Given the description of an element on the screen output the (x, y) to click on. 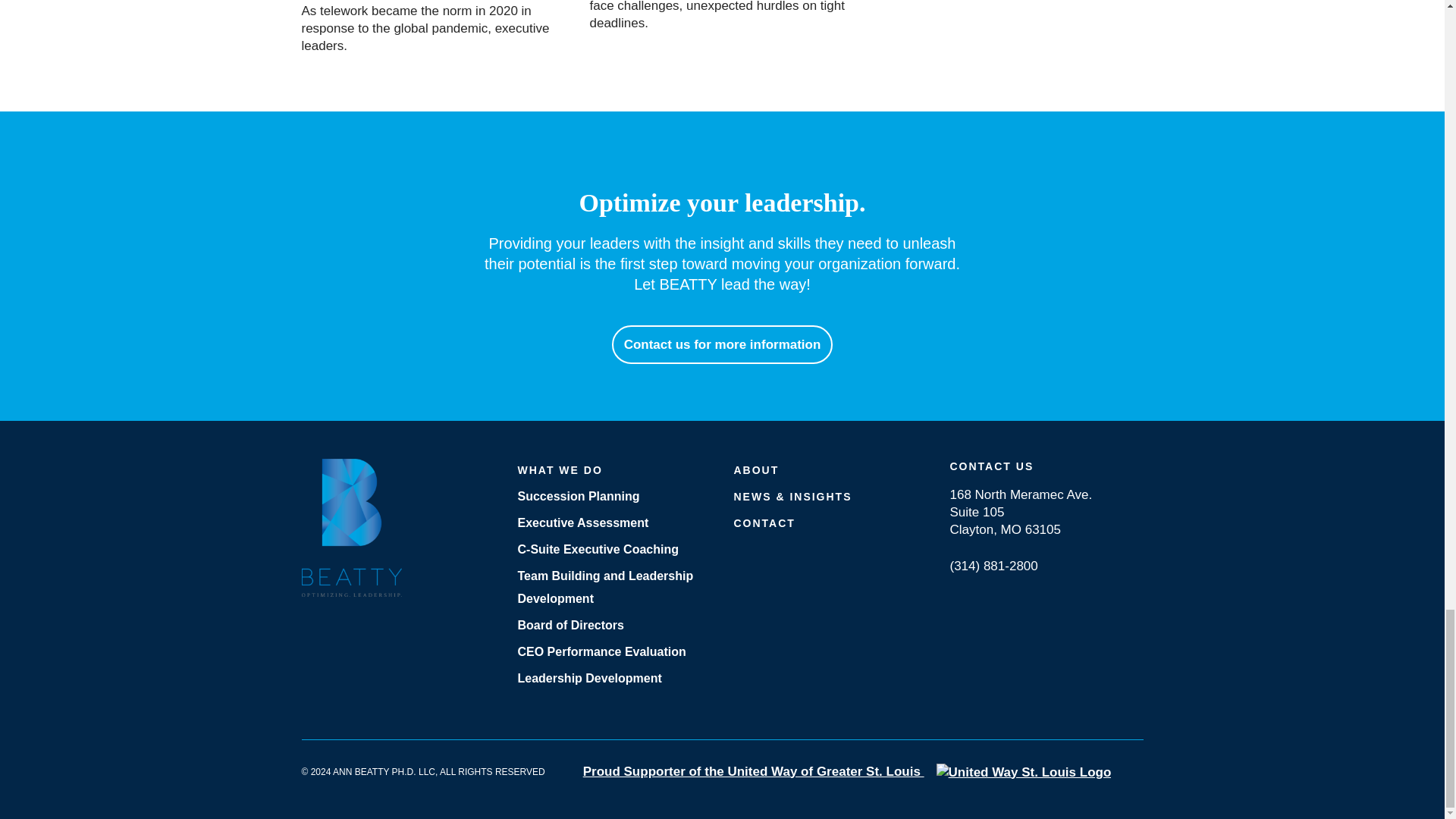
Succession Planning (613, 496)
Contact us for more information (721, 343)
Executive Assessment (613, 522)
What We Do (613, 468)
C-Suite Executive Coaching (613, 549)
WHAT WE DO (613, 468)
Executive Assessment (613, 522)
Team Building and Leadership Development (613, 586)
Team Building and Leadership Development (613, 586)
Succession Planning (613, 496)
Board of Directors (613, 625)
C-Suite Executive Coaching (613, 549)
Beatty (351, 526)
